Given the description of an element on the screen output the (x, y) to click on. 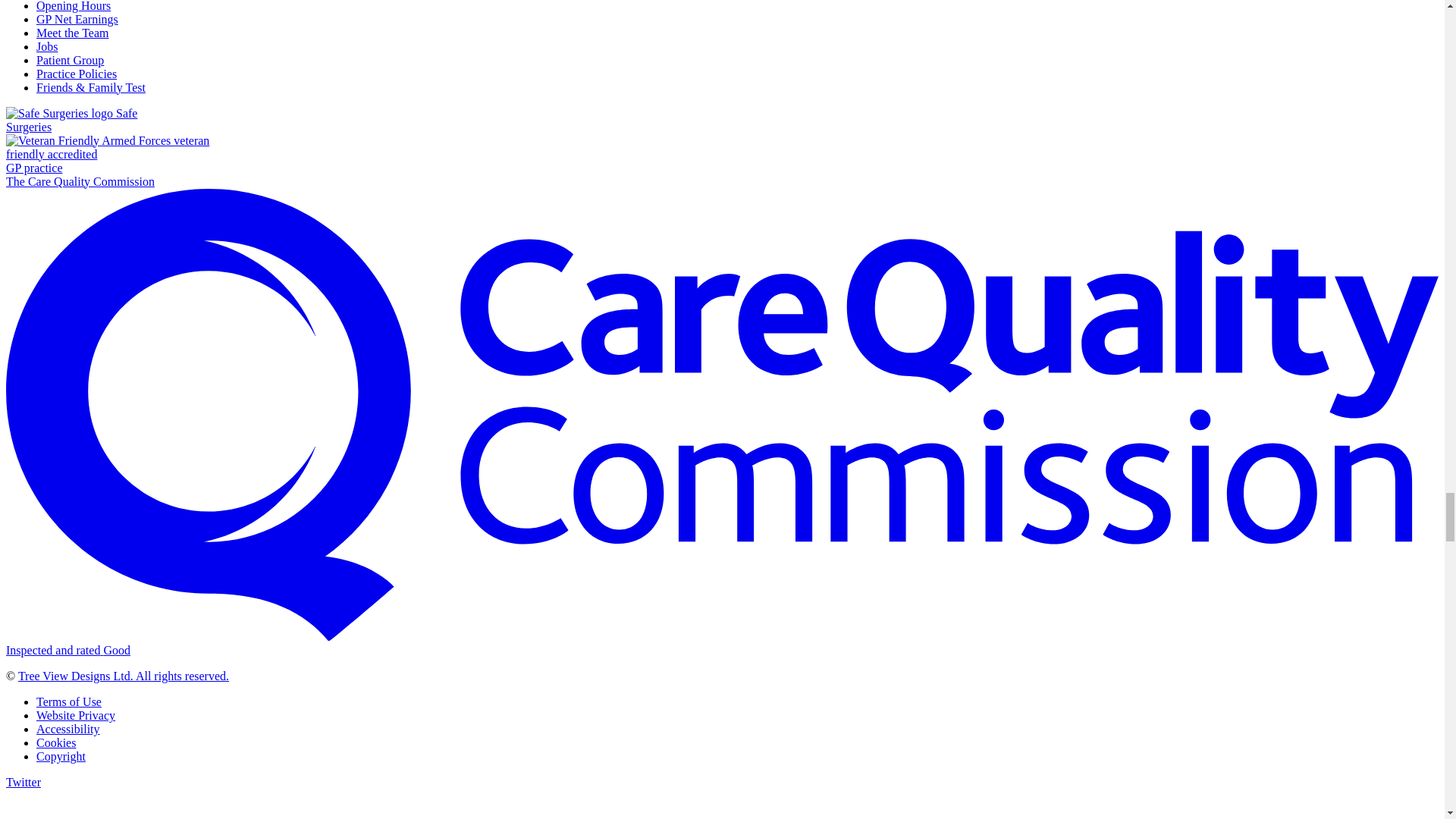
Meet the Team (71, 32)
Website Privacy (107, 154)
Terms of Use (75, 715)
Opening Hours (68, 701)
Tree View Designs Ltd. All rights reserved. (73, 6)
Cookies (122, 675)
Patient Group (55, 742)
Jobs (69, 60)
Accessibility (47, 46)
Copyright (68, 728)
GP Net Earnings (70, 120)
Practice Policies (60, 756)
